Given the description of an element on the screen output the (x, y) to click on. 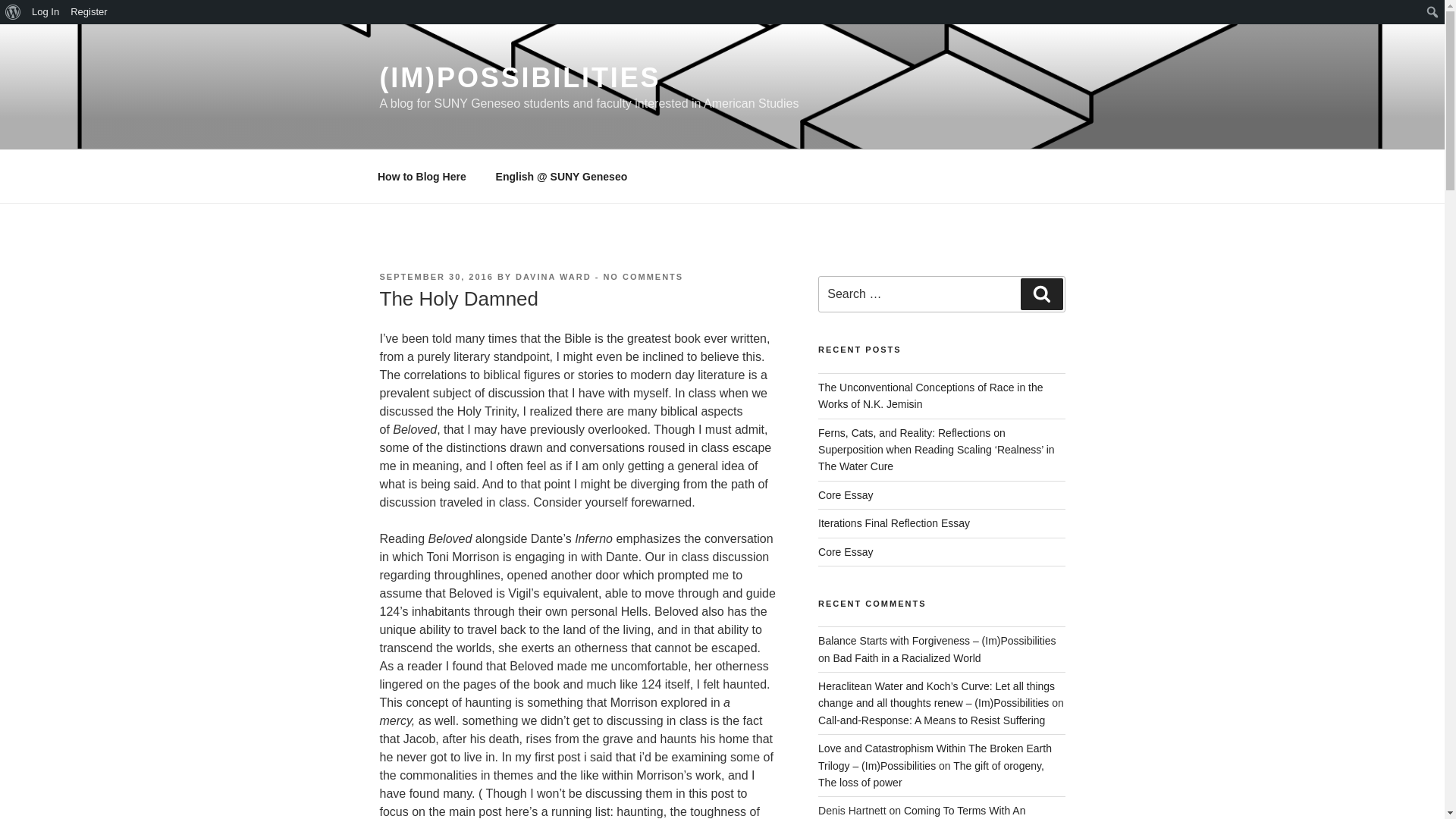
Coming To Terms With An Unconventional Narrator (921, 811)
Bad Faith in a Racialized World  (642, 276)
Core Essay (908, 657)
Search (845, 551)
Call-and-Response: A Means to Resist Suffering (15, 12)
The gift of orogeny, The loss of power (931, 720)
Register (930, 774)
About WordPress (89, 12)
SEPTEMBER 30, 2016 (13, 12)
Log In (435, 276)
Core Essay (45, 12)
DAVINA WARD (845, 494)
How to Blog Here (553, 276)
